Given the description of an element on the screen output the (x, y) to click on. 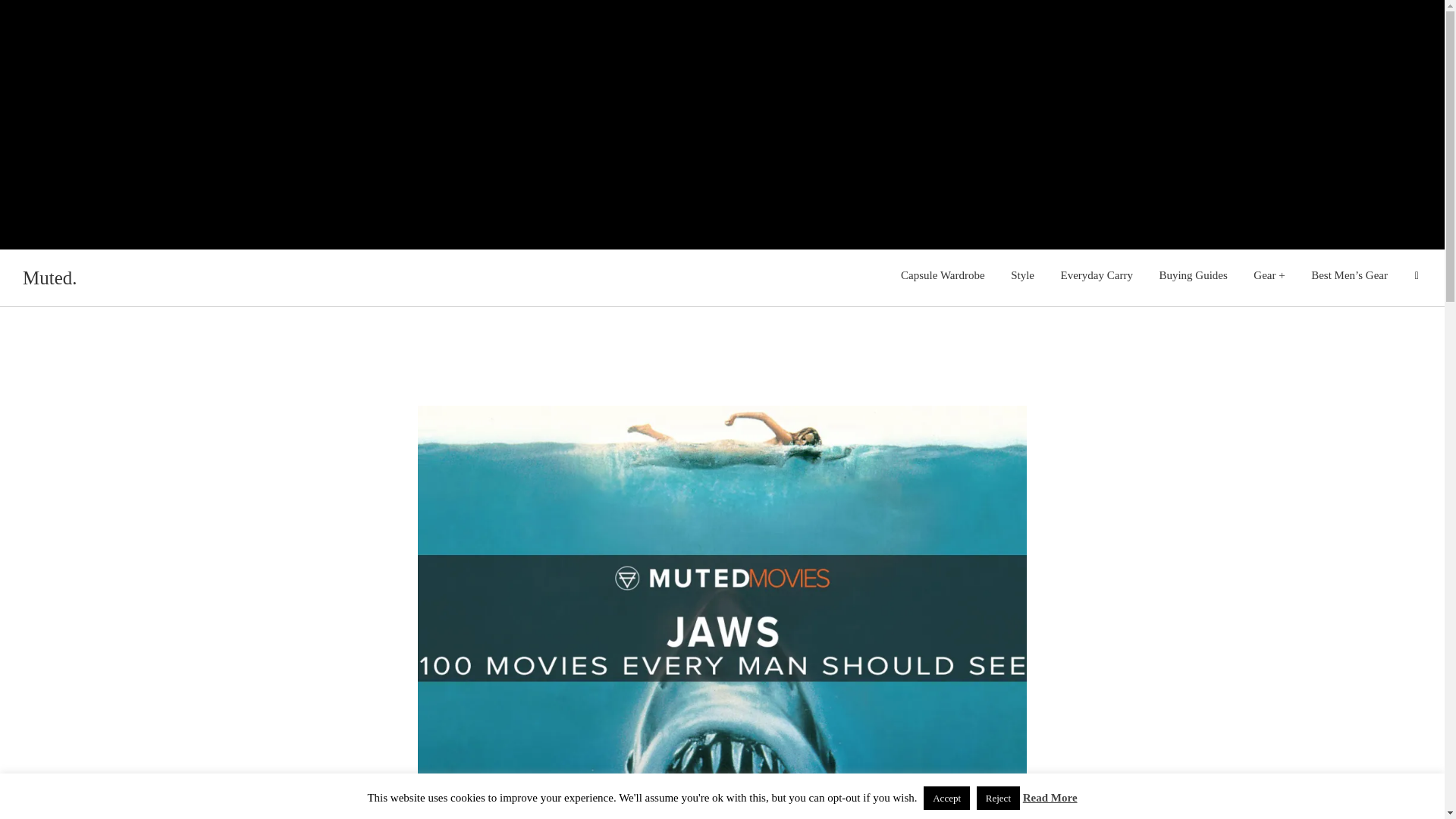
Style (1021, 275)
Capsule Wardrobe (942, 275)
Everyday Carry (1096, 275)
Muted. (50, 277)
Buying Guides (1193, 275)
